Given the description of an element on the screen output the (x, y) to click on. 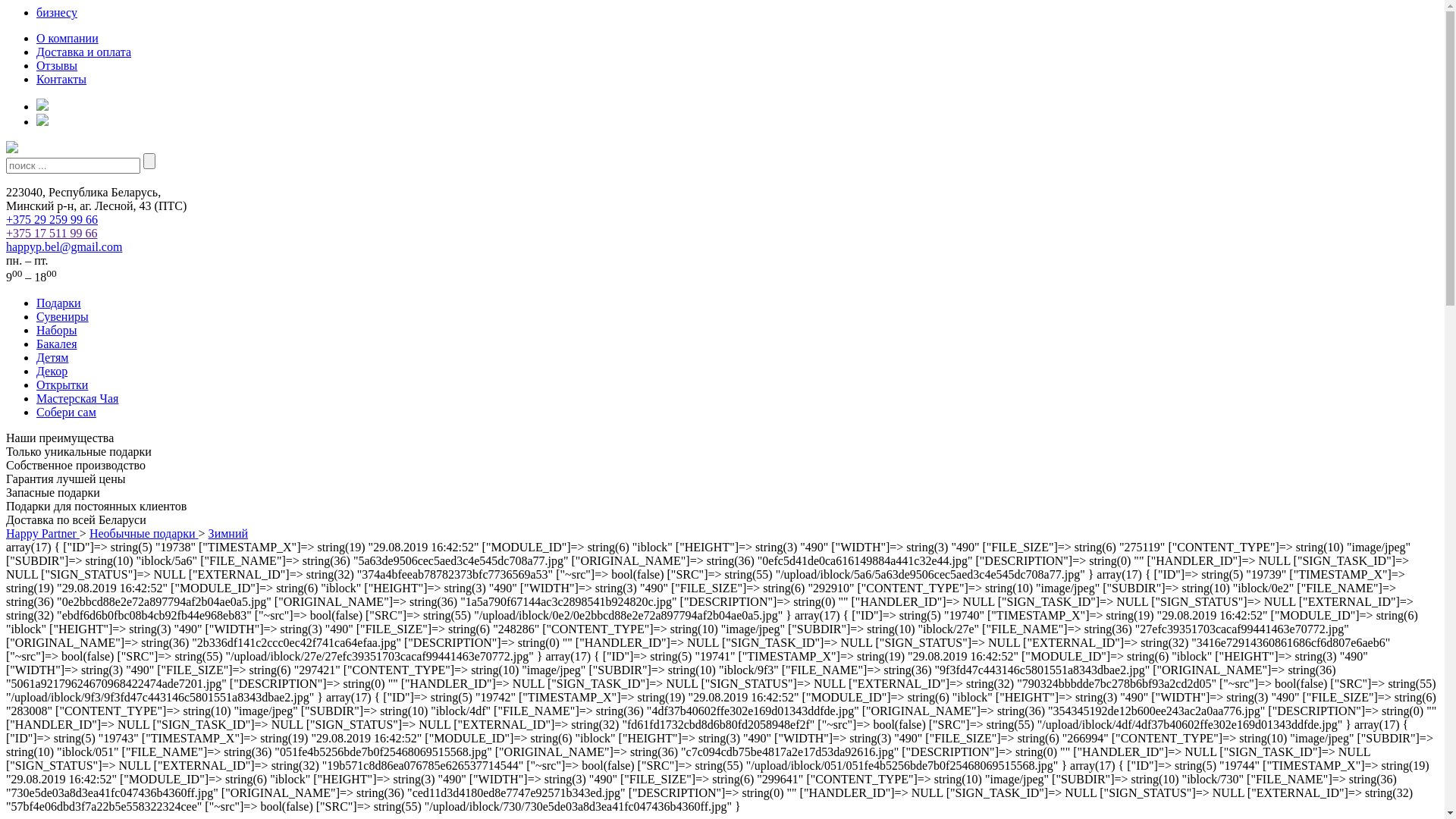
HappyPartner Element type: hover (12, 148)
Happy Partner Element type: text (42, 533)
happyp.bel@gmail.com Element type: text (64, 246)
+375 29 259 99 66 Element type: text (51, 219)
+375 17 511 99 66 Element type: text (51, 232)
